Given the description of an element on the screen output the (x, y) to click on. 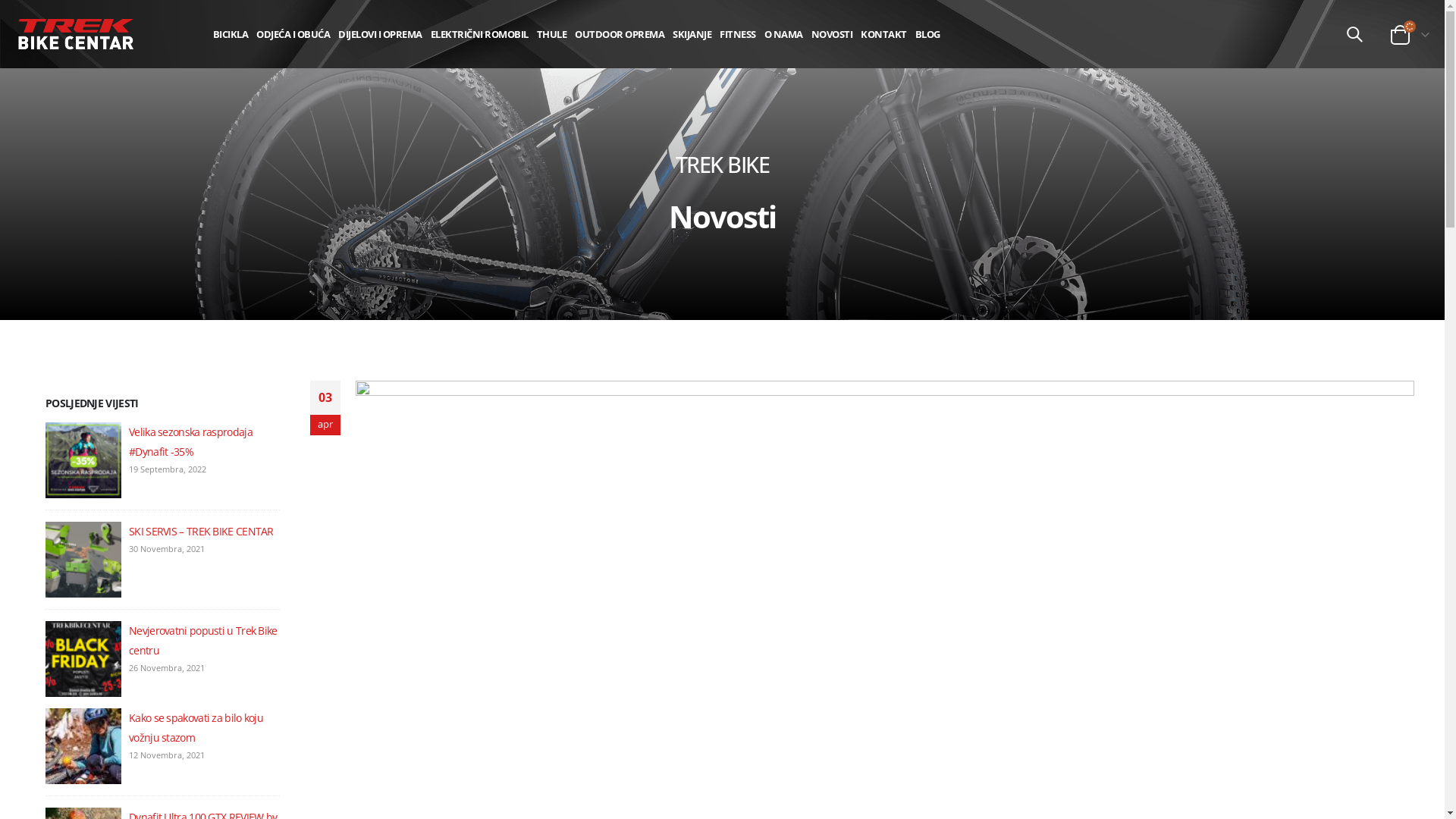
SKIJANJE Element type: text (691, 34)
THULE Element type: text (552, 34)
KONTAKT Element type: text (883, 34)
O NAMA Element type: text (783, 34)
Velika sezonska rasprodaja #Dynafit -35% Element type: text (190, 441)
DIJELOVI I OPREMA Element type: text (380, 34)
TREK BIKE CENTAR -  Element type: hover (75, 34)
OUTDOOR OPREMA Element type: text (619, 34)
BICIKLA Element type: text (230, 34)
BLOG Element type: text (927, 34)
NOVOSTI Element type: text (831, 34)
FITNESS Element type: text (737, 34)
Nevjerovatni popusti u Trek Bike centru Element type: text (202, 640)
